Given the description of an element on the screen output the (x, y) to click on. 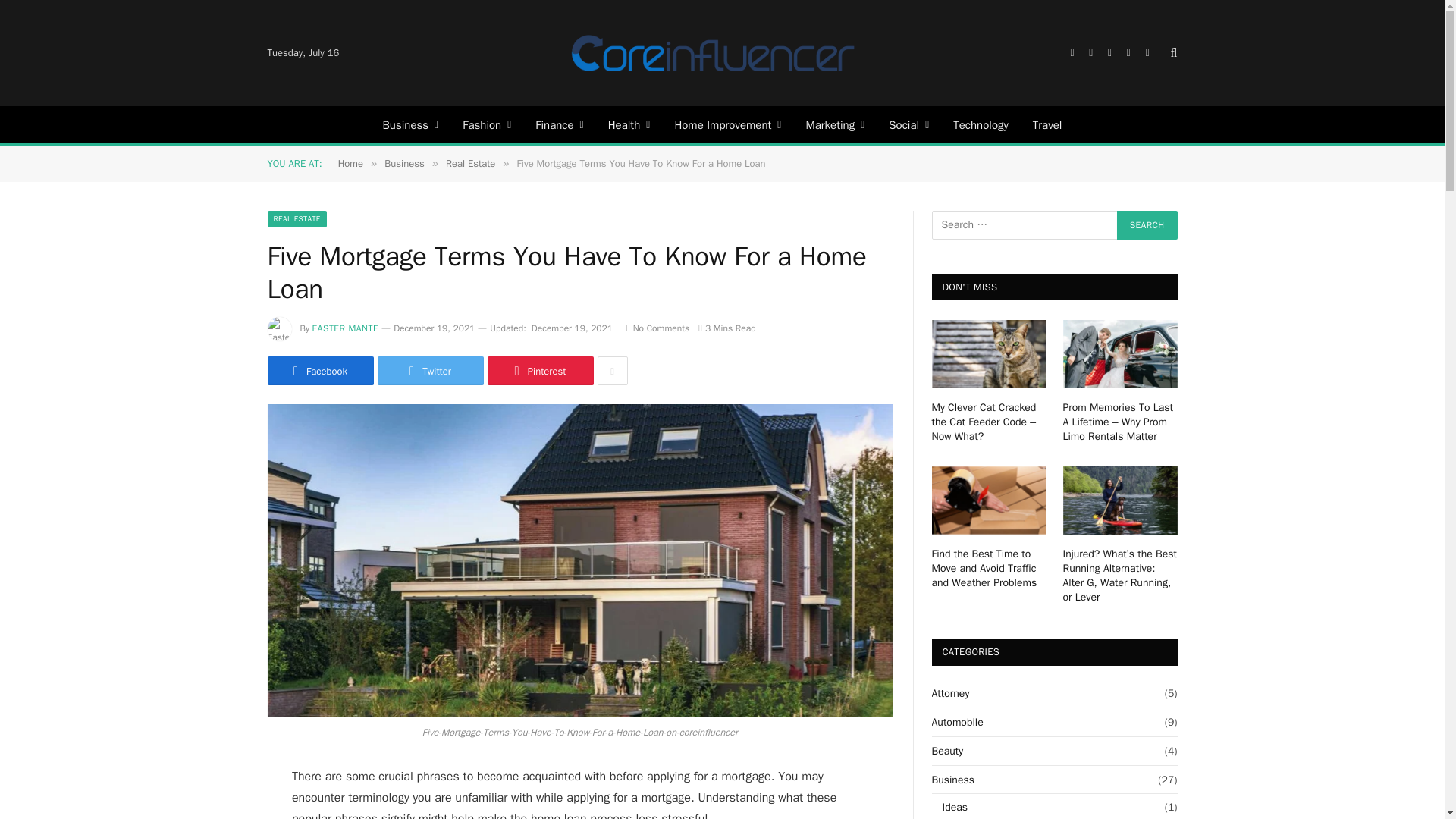
Health (628, 124)
Marketing (834, 124)
Search (1172, 53)
Fashion (485, 124)
Social (908, 124)
Share on Facebook (319, 370)
Show More Social Sharing (611, 370)
Travel (1047, 124)
Core Influencer (712, 53)
Search (1146, 224)
LinkedIn (1128, 53)
VKontakte (1147, 53)
Instagram (1109, 53)
Facebook (1072, 53)
Share on Pinterest (539, 370)
